Given the description of an element on the screen output the (x, y) to click on. 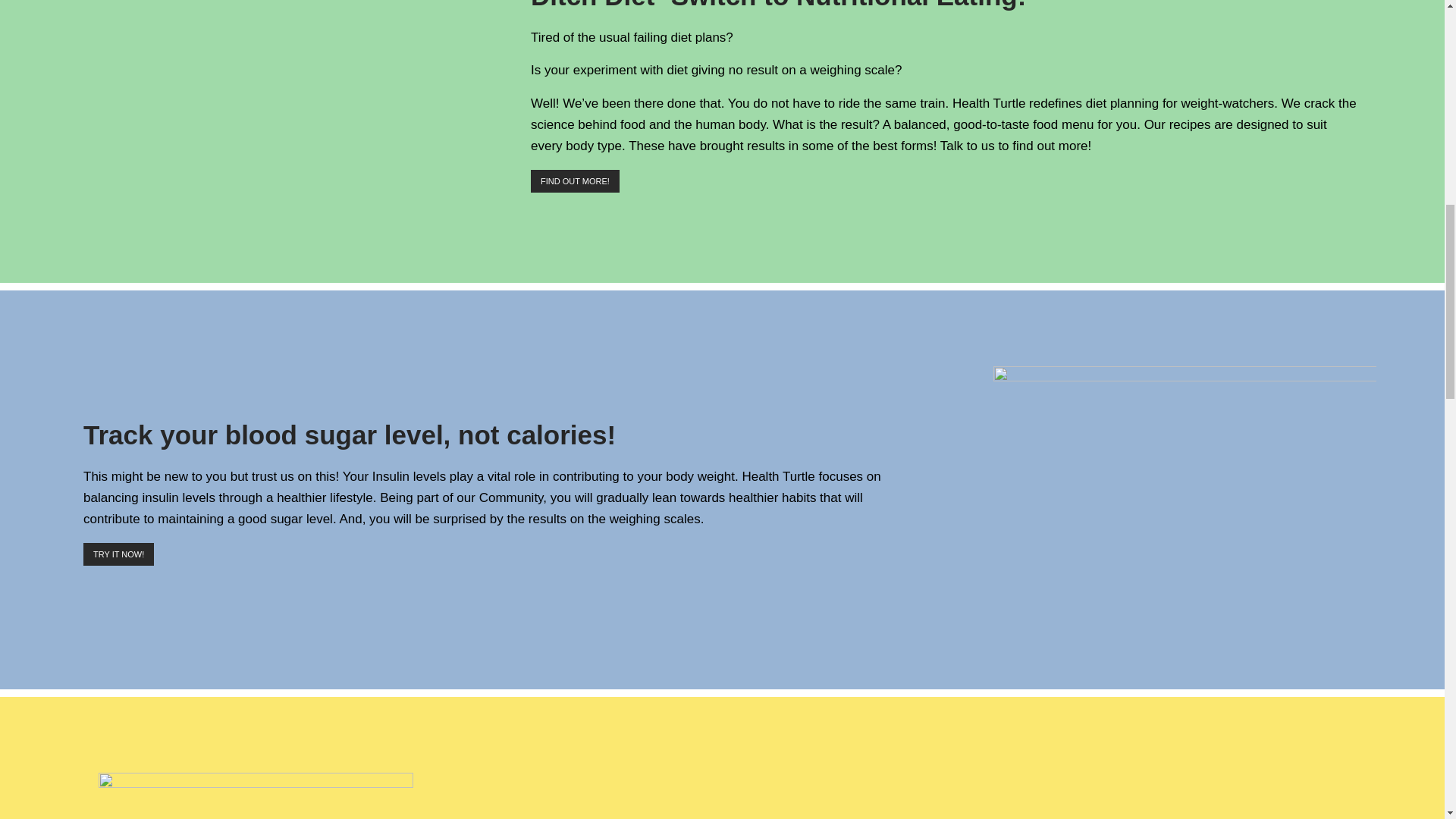
TRY IT NOW! (118, 553)
FIND OUT MORE! (575, 180)
